Given the description of an element on the screen output the (x, y) to click on. 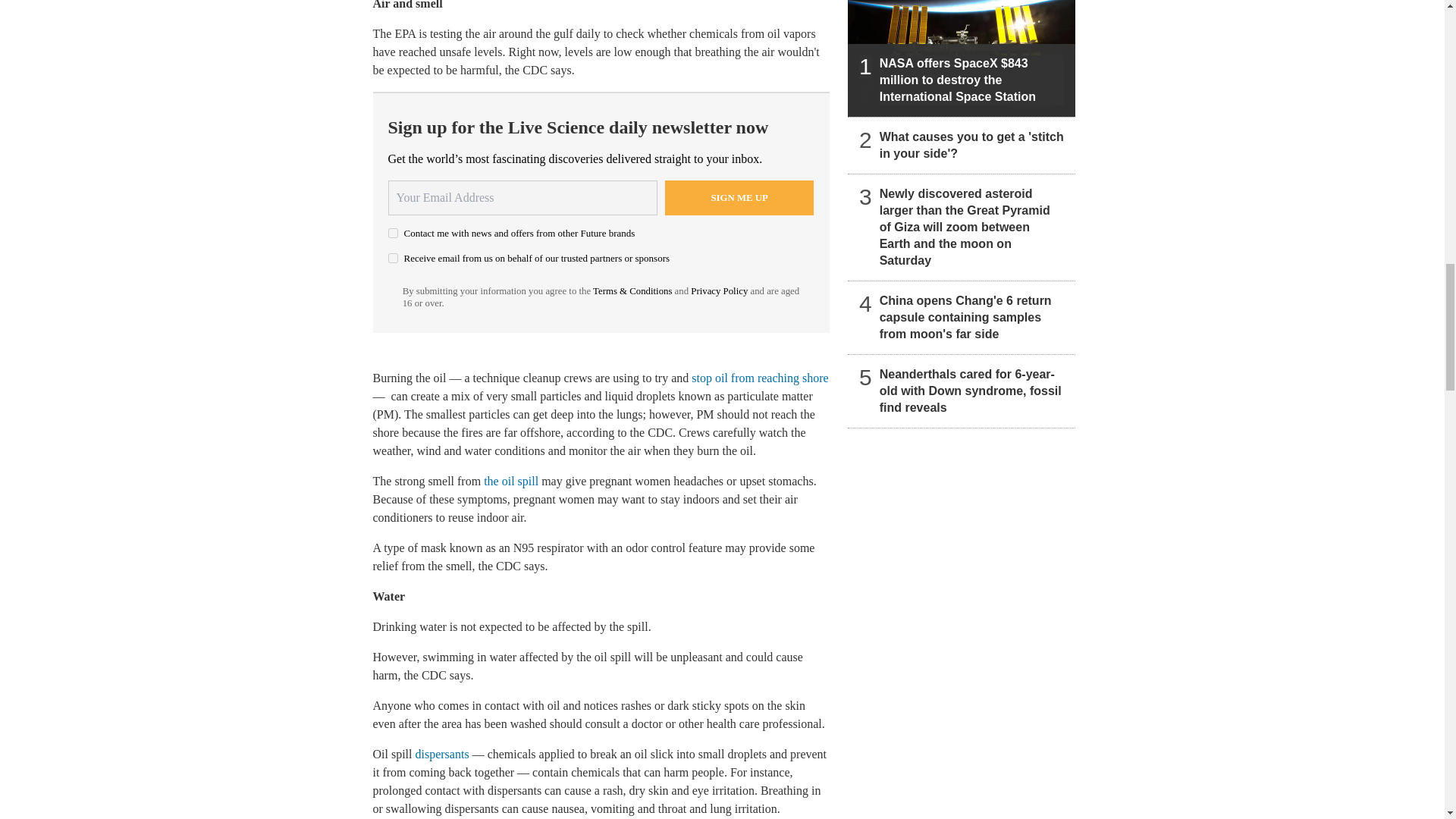
Sign me up (739, 197)
on (392, 257)
on (392, 233)
